Given the description of an element on the screen output the (x, y) to click on. 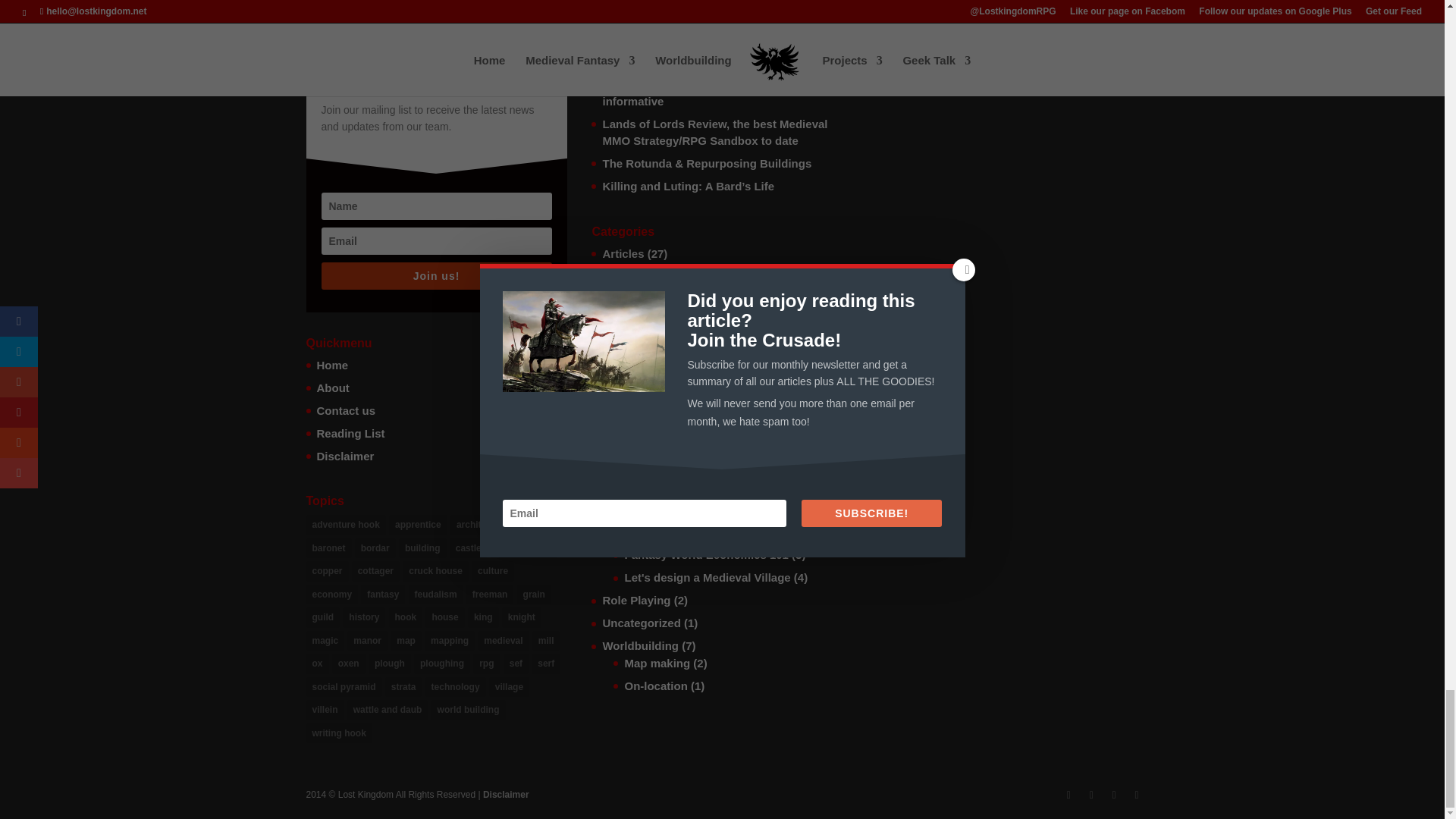
Architecture (657, 292)
